Given the description of an element on the screen output the (x, y) to click on. 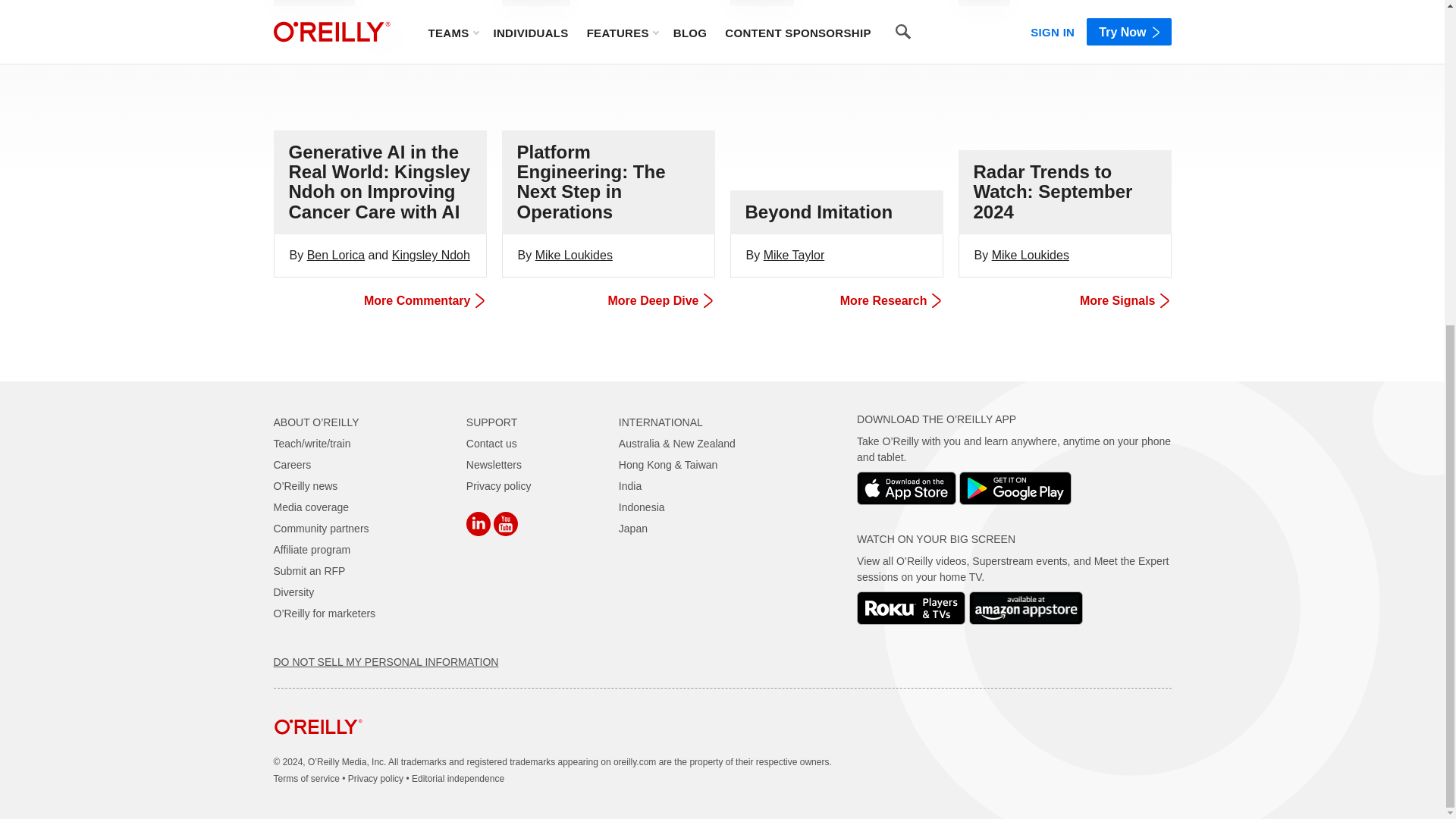
More Commentary (378, 300)
Commentary (314, 3)
Ben Lorica (336, 254)
Kingsley Ndoh (430, 254)
home page (317, 745)
